Given the description of an element on the screen output the (x, y) to click on. 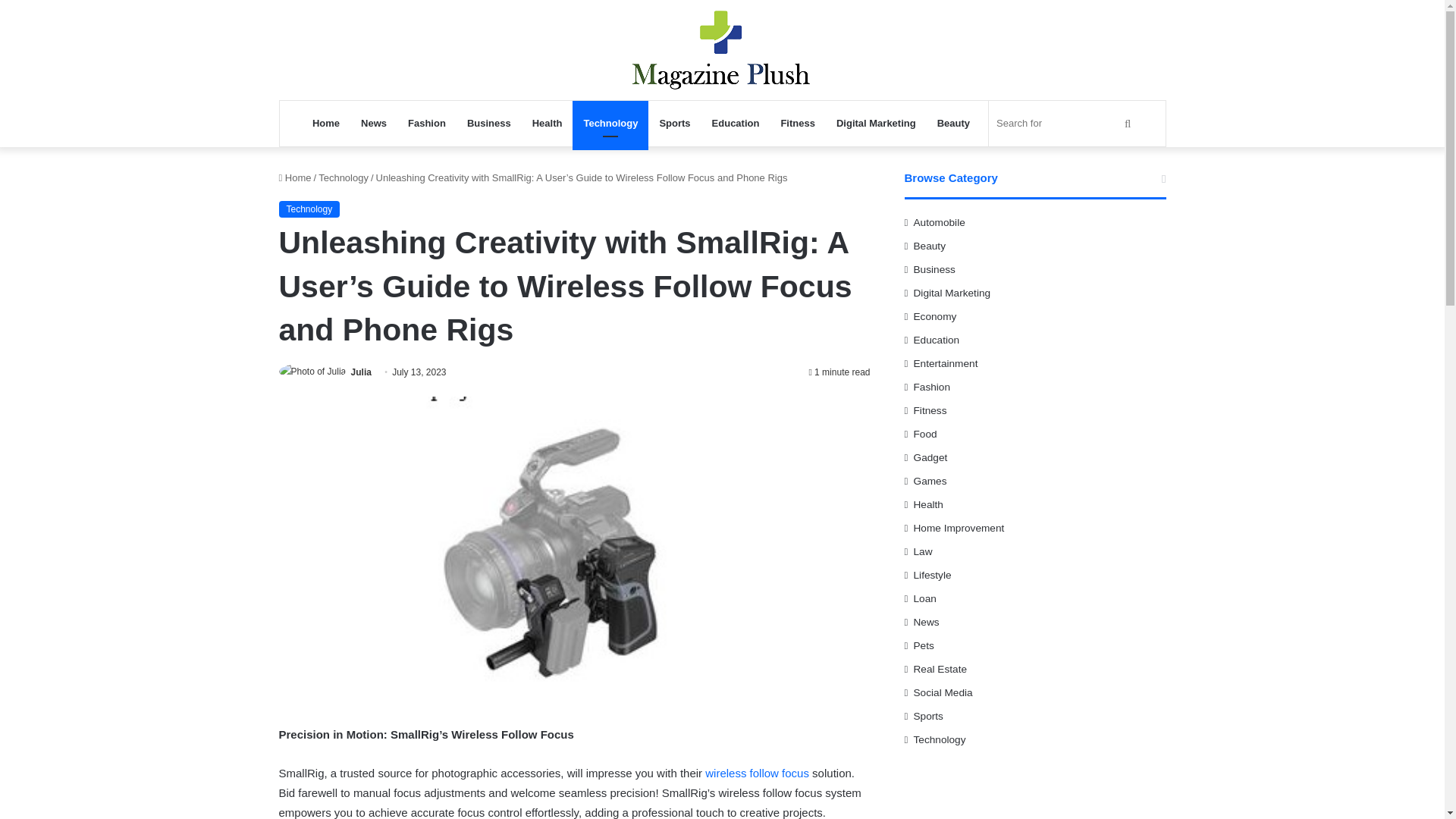
Julia (360, 371)
wireless follow focus (756, 772)
Digital Marketing (875, 123)
Technology (609, 123)
Health (547, 123)
News (373, 123)
Home (295, 177)
My Blog (722, 49)
Home (325, 123)
Beauty (952, 123)
Education (735, 123)
Fashion (427, 123)
Search for (1065, 123)
Fitness (797, 123)
Technology (343, 177)
